Given the description of an element on the screen output the (x, y) to click on. 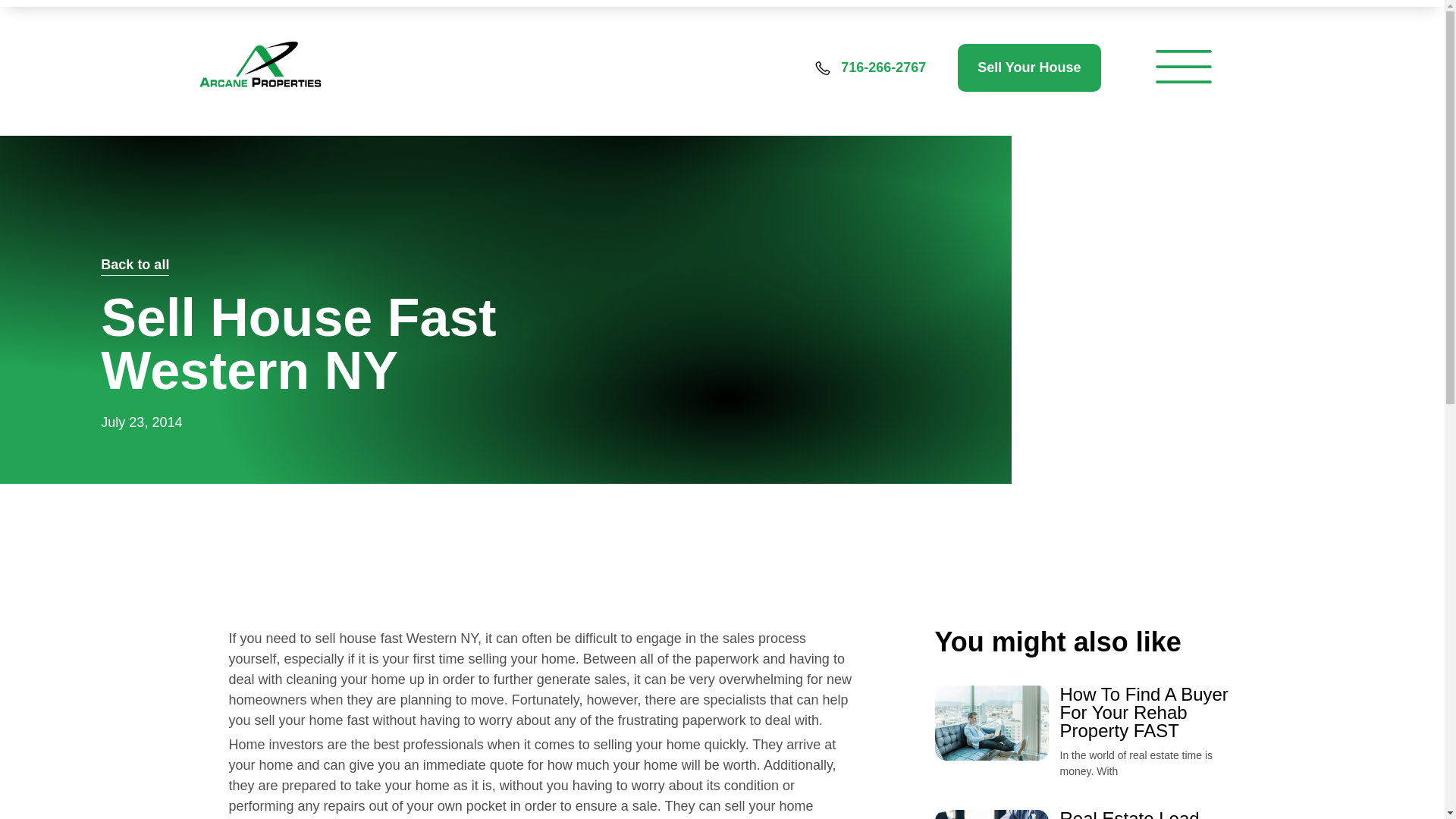
bars (1183, 66)
716-266-2767 (883, 67)
Sell Your House (1029, 67)
